Given the description of an element on the screen output the (x, y) to click on. 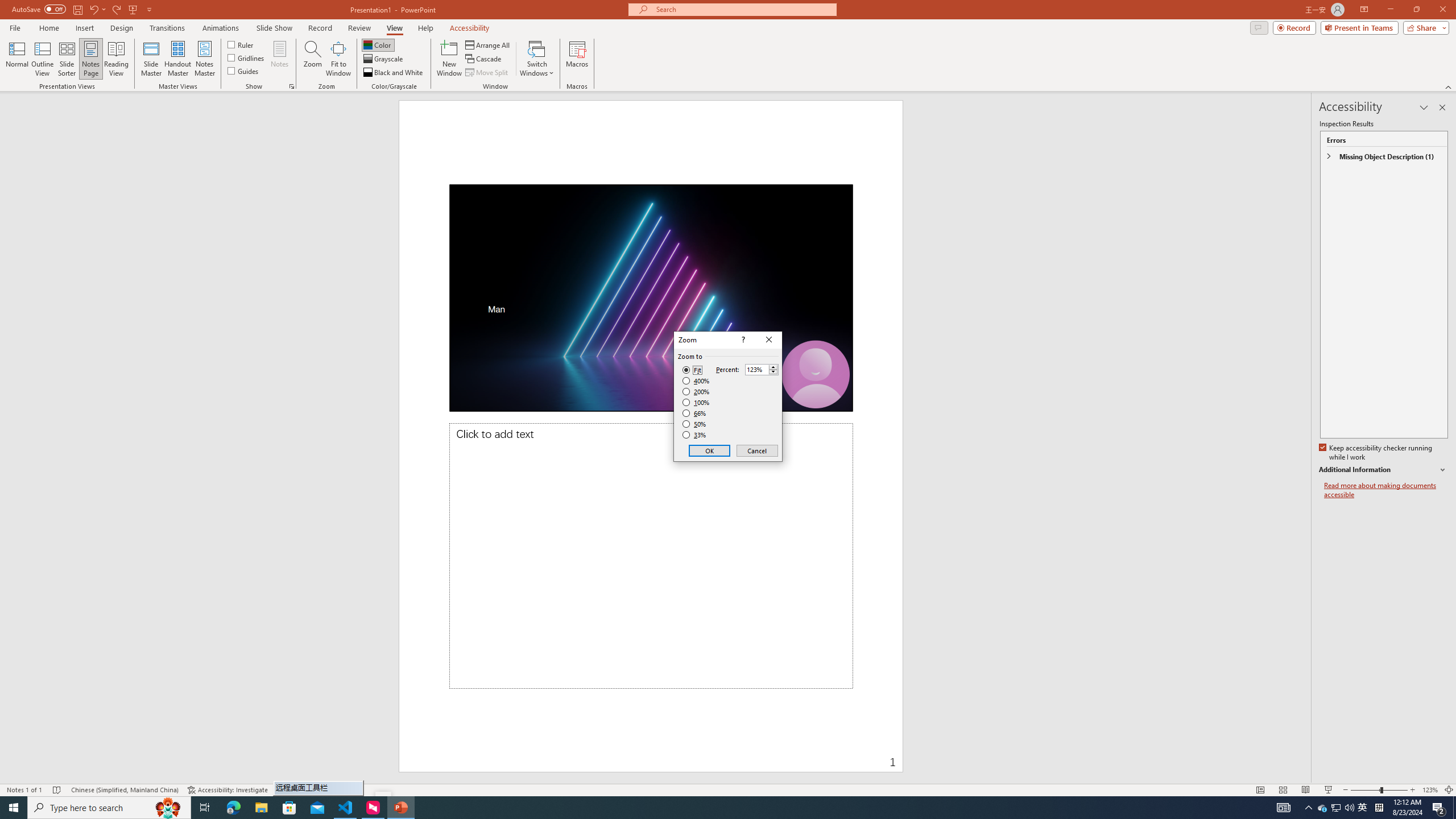
50% (694, 424)
Macros (576, 58)
Zoom 123% (1430, 790)
Arrange All (488, 44)
Percent (761, 369)
Color (377, 44)
Outline View (42, 58)
Notes Master (204, 58)
